Given the description of an element on the screen output the (x, y) to click on. 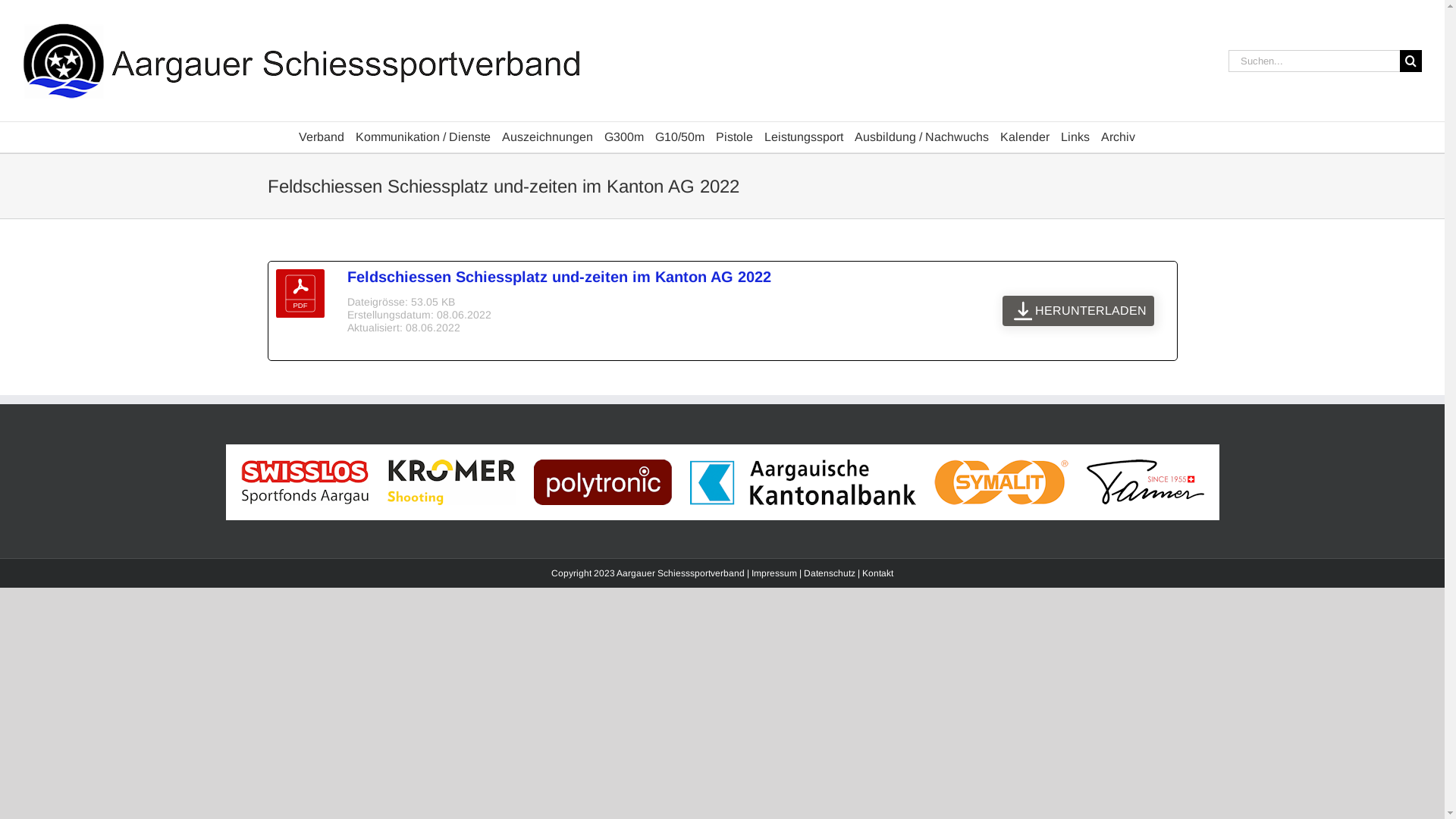
G300m Element type: text (623, 137)
Kalender Element type: text (1023, 137)
Impressum Element type: text (774, 572)
Feldschiessen Schiessplatz und-zeiten im Kanton AG 2022 Element type: text (559, 276)
Archiv Element type: text (1118, 137)
Kommunikation / Dienste Element type: text (421, 137)
Datenschutz Element type: text (829, 572)
Pistole Element type: text (734, 137)
Kontakt Element type: text (877, 572)
G10/50m Element type: text (679, 137)
Auszeichnungen Element type: text (547, 137)
Leistungssport Element type: text (803, 137)
Ausbildung / Nachwuchs Element type: text (920, 137)
Links Element type: text (1074, 137)
Verband Element type: text (321, 137)
HERUNTERLADEN Element type: text (1078, 310)
